Given the description of an element on the screen output the (x, y) to click on. 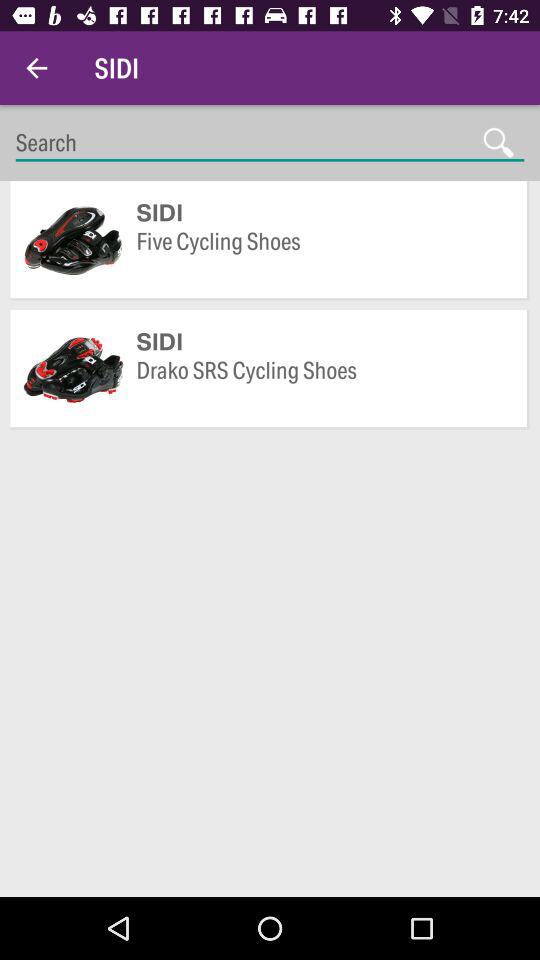
jump to the drako srs cycling icon (322, 385)
